Given the description of an element on the screen output the (x, y) to click on. 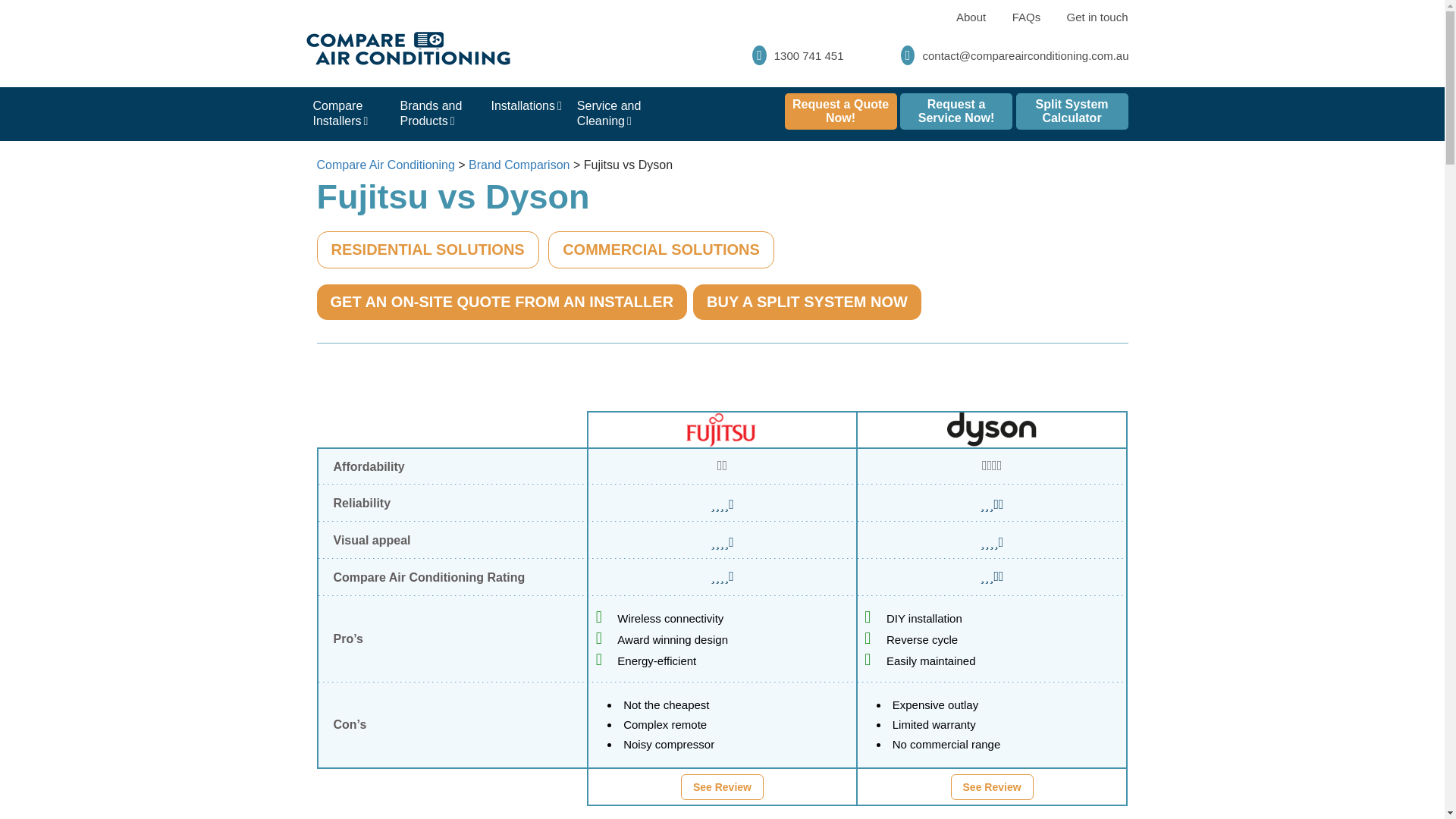
Brands and Products (438, 113)
Compare Installers (347, 113)
Get in touch (1097, 17)
FAQs (1026, 17)
Go to Brand Comparison. (518, 164)
1300 741 451 (797, 55)
About (970, 17)
Go to Compare Air Conditioning. (385, 164)
